Given the description of an element on the screen output the (x, y) to click on. 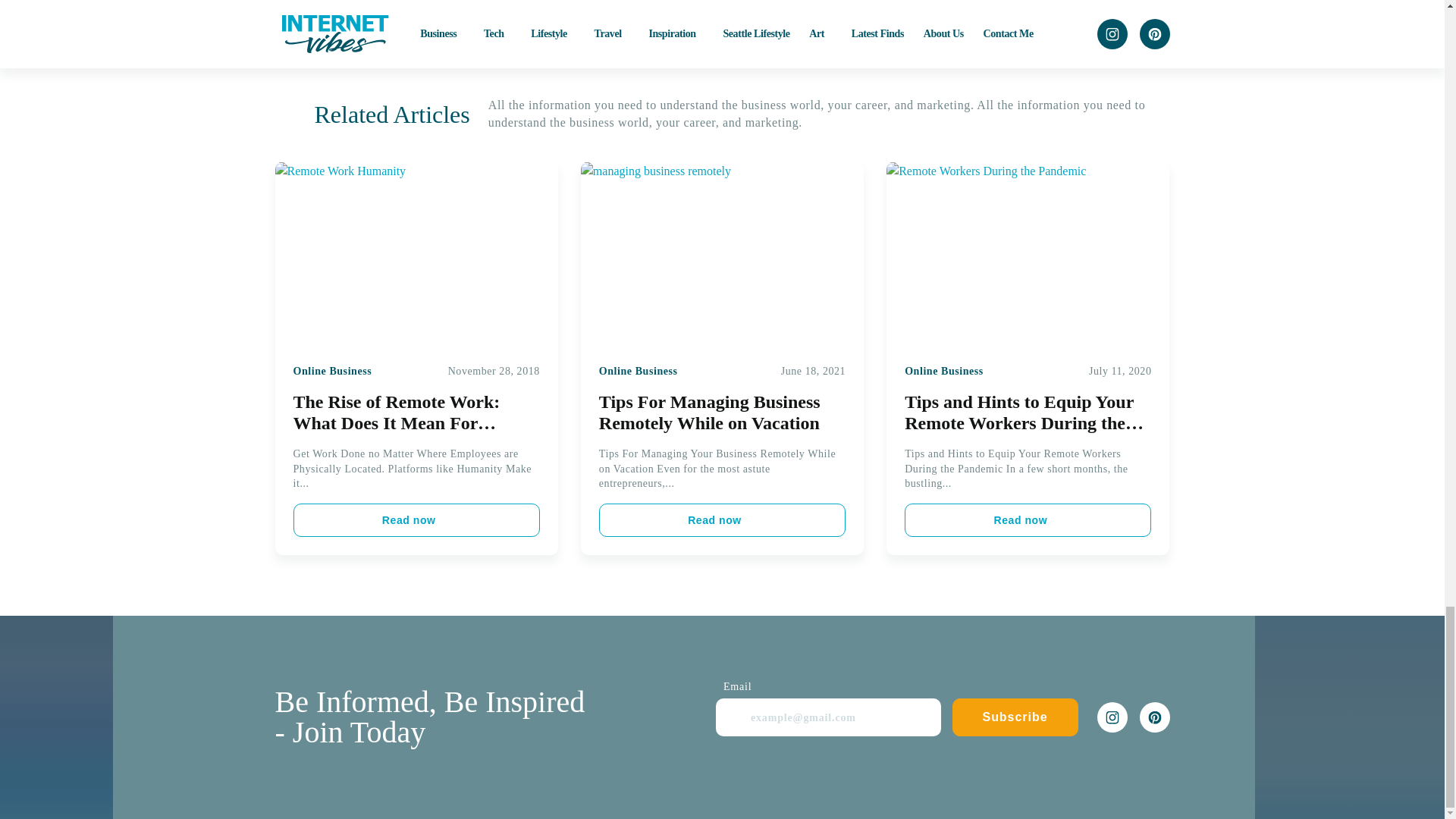
Subscribe (1015, 717)
